Given the description of an element on the screen output the (x, y) to click on. 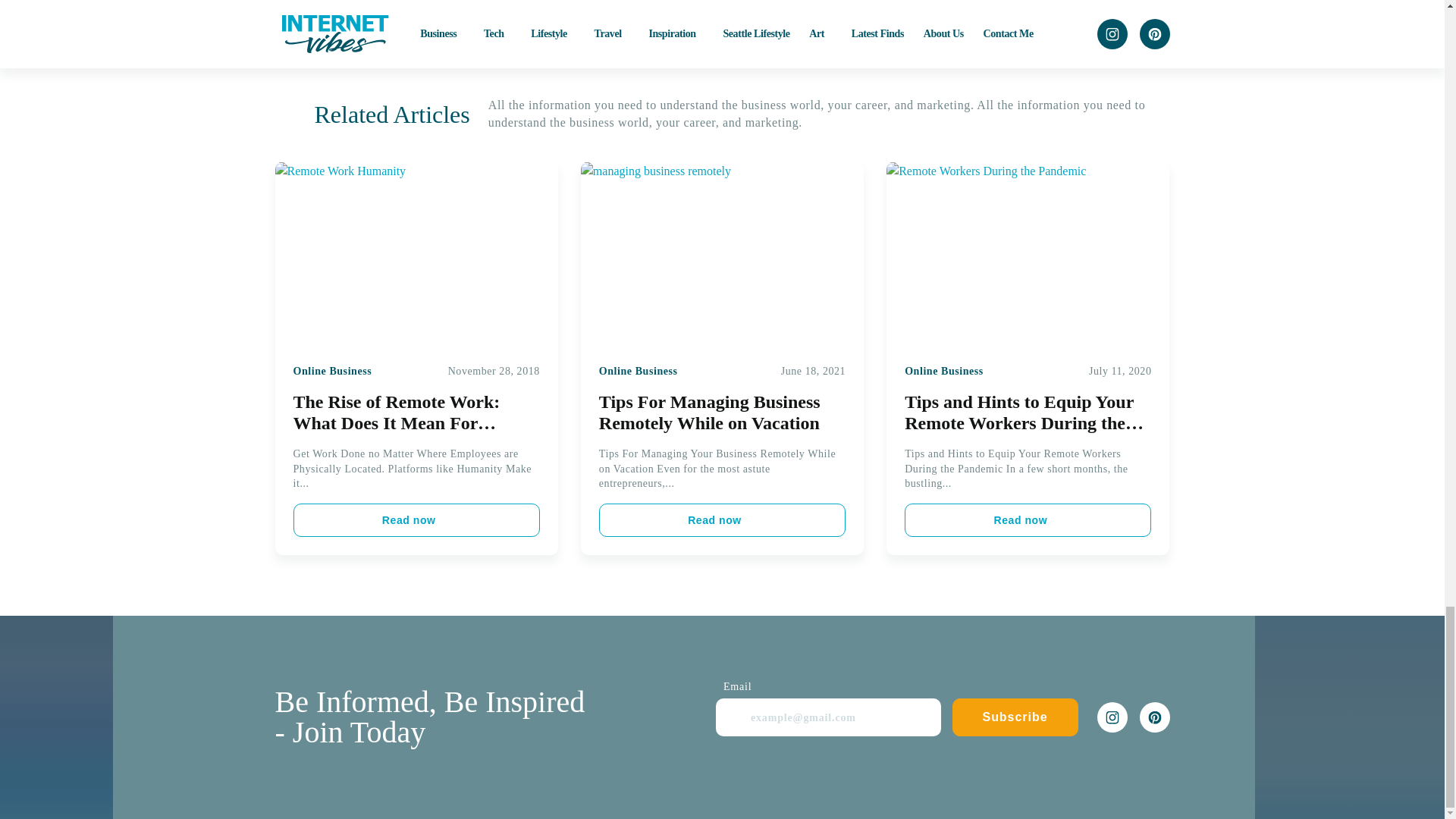
Subscribe (1015, 717)
